Given the description of an element on the screen output the (x, y) to click on. 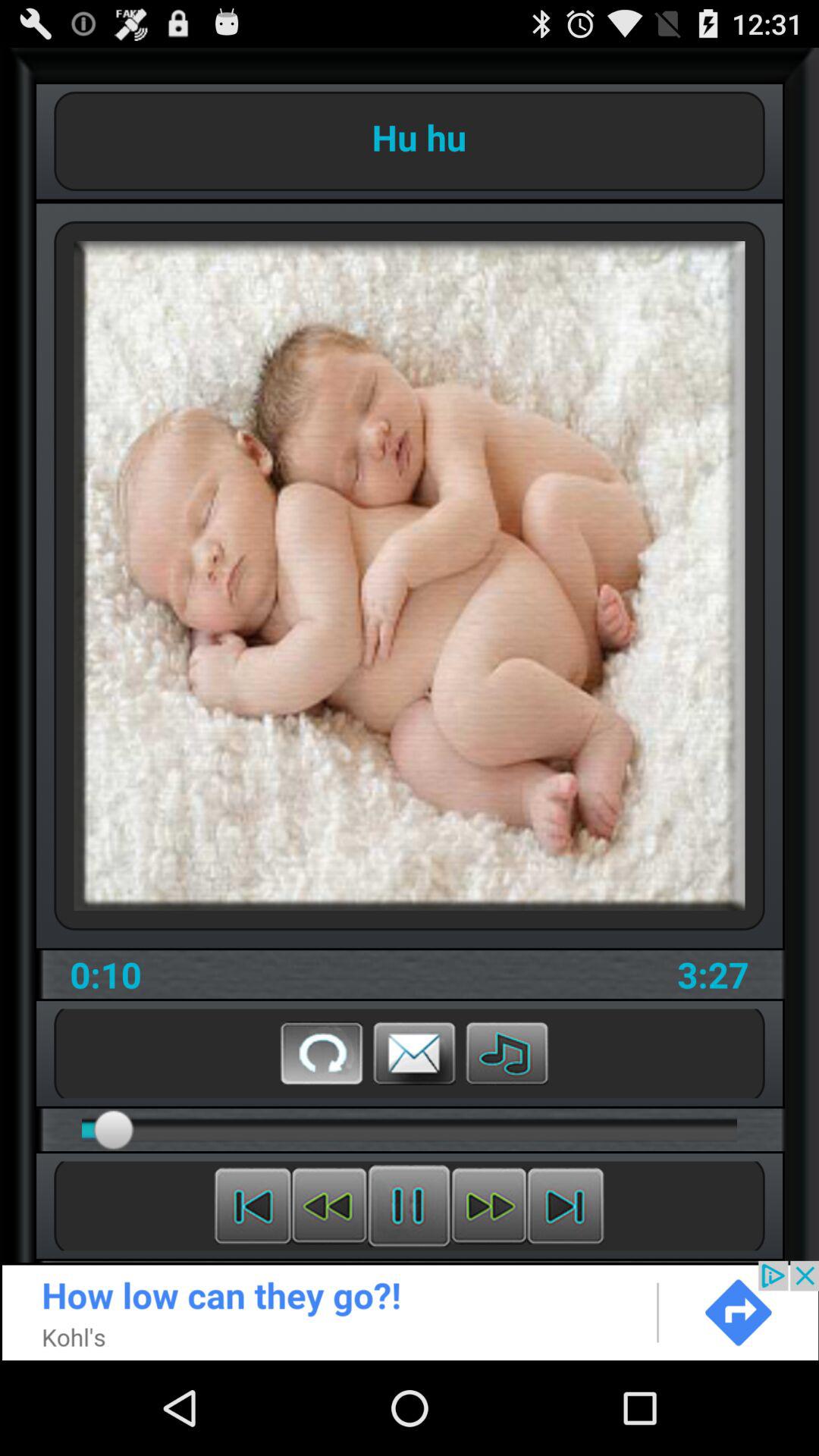
go to previous (329, 1205)
